Given the description of an element on the screen output the (x, y) to click on. 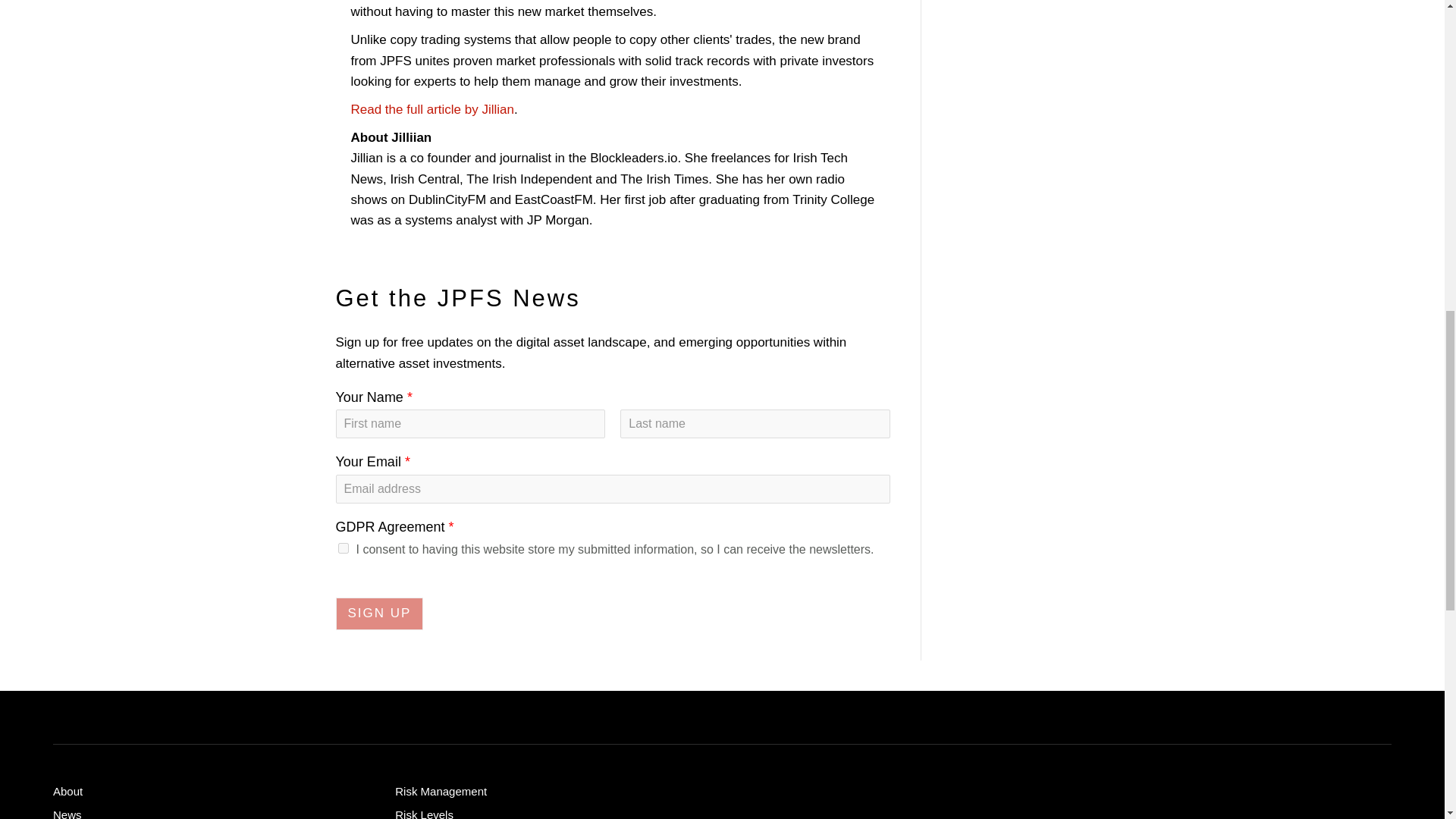
SIGN UP (378, 613)
Read the full article by Jillian (431, 109)
About (208, 793)
News (208, 812)
